Given the description of an element on the screen output the (x, y) to click on. 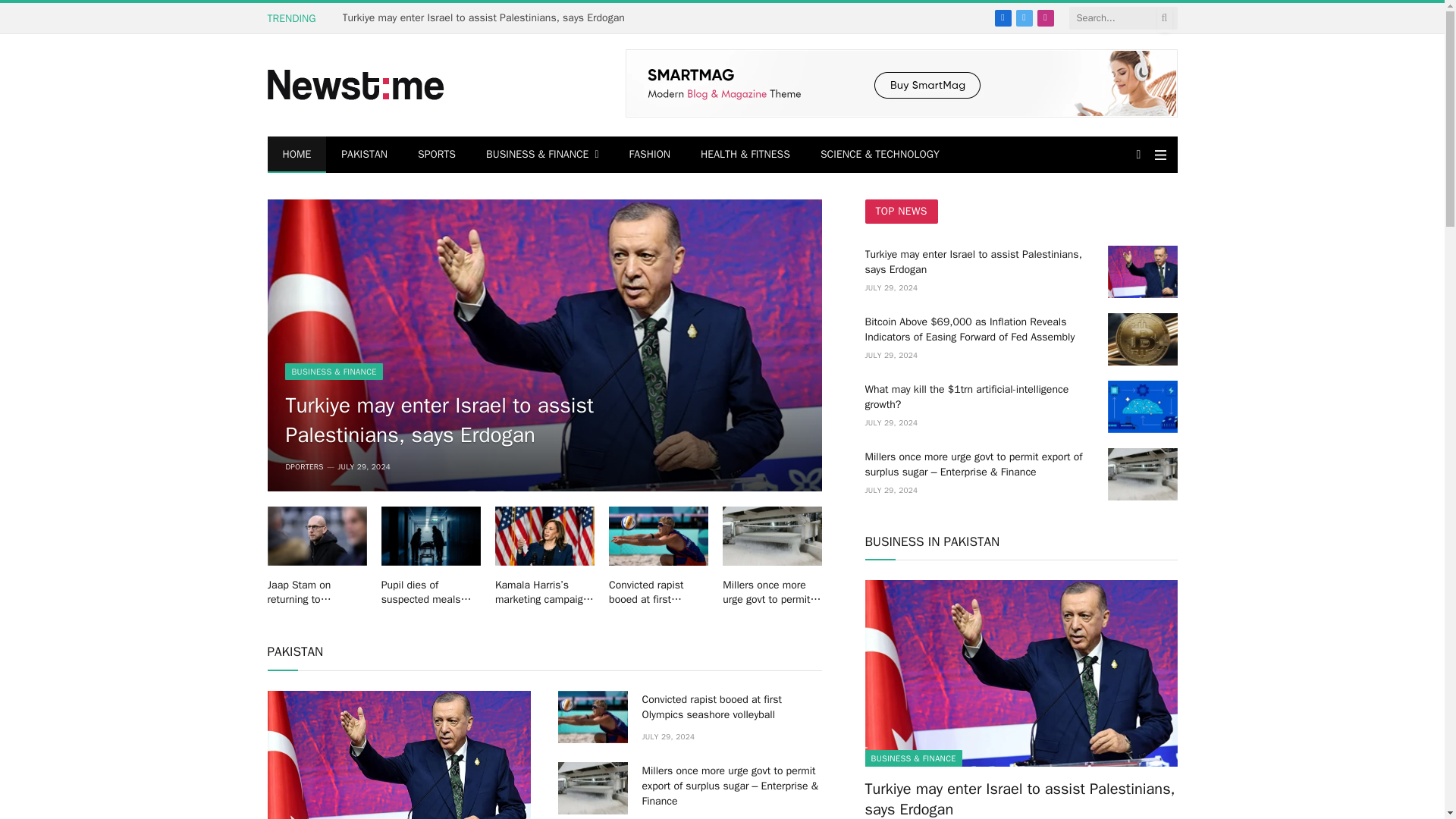
PAKISTAN (364, 154)
Instagram (1045, 17)
Dive Reporters (355, 84)
Facebook (1002, 17)
Convicted rapist booed at first Olympics seashore volleyball (657, 535)
SPORTS (436, 154)
Pupil dies of suspected meals poisoning in Sandakan (430, 535)
HOME (296, 154)
Switch to Dark Design - easier on eyes. (1138, 154)
Posts by dporters (304, 466)
